Given the description of an element on the screen output the (x, y) to click on. 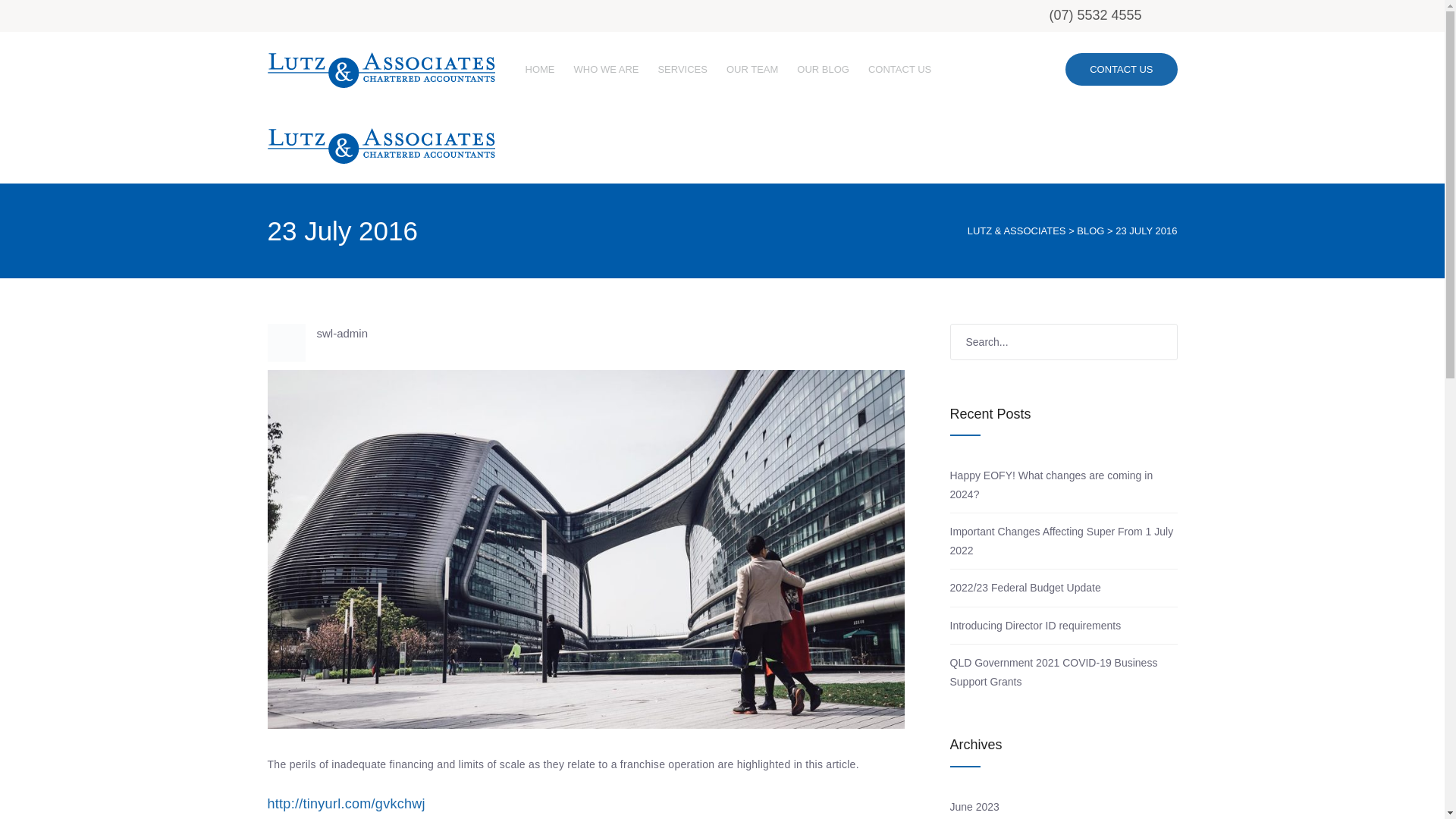
Introducing Director ID requirements Element type: text (1034, 625)
OUR TEAM Element type: text (752, 69)
HOME Element type: text (539, 69)
2022/23 Federal Budget Update Element type: text (1024, 587)
CONTACT US Element type: text (1120, 69)
QLD Government 2021 COVID-19 Business Support Grants Element type: text (1053, 671)
BLOG Element type: text (1090, 229)
CONTACT US Element type: text (899, 69)
SERVICES Element type: text (682, 69)
WHO WE ARE Element type: text (605, 69)
Important Changes Affecting Super From 1 July 2022 Element type: text (1061, 540)
June 2023 Element type: text (973, 806)
http://tinyurl.com/gvkchwj Element type: text (345, 804)
Happy EOFY! What changes are coming in 2024? Element type: text (1050, 484)
OUR BLOG Element type: text (823, 69)
LUTZ & ASSOCIATES Element type: text (1016, 229)
swl-admin Element type: text (584, 333)
(07) 5532 4555 Element type: text (1094, 14)
